Given the description of an element on the screen output the (x, y) to click on. 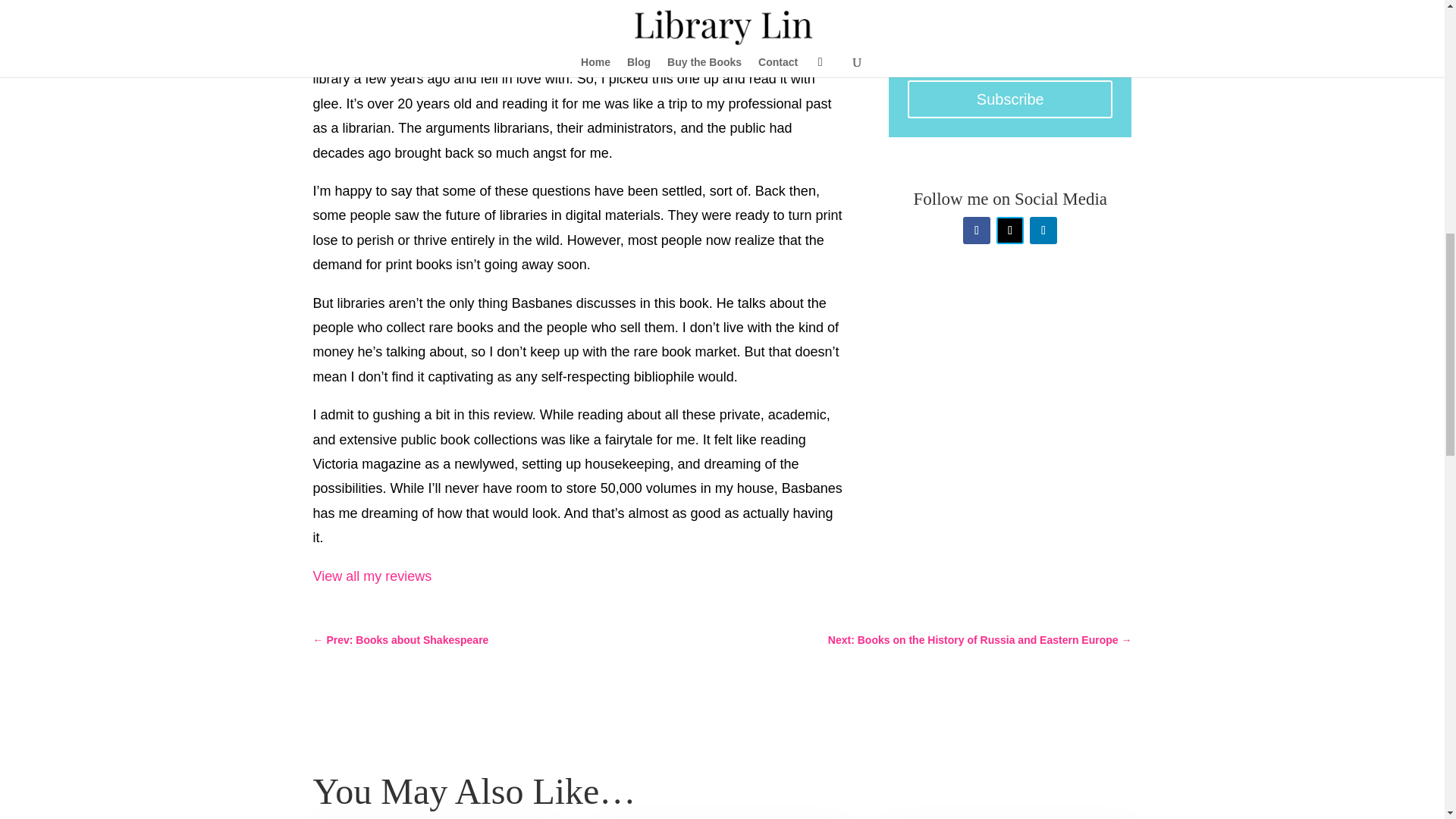
Follow on Facebook (976, 230)
View all my reviews (371, 575)
Follow on LinkedIn (1043, 230)
Follow on X (1009, 230)
Subscribe (1009, 98)
